Given the description of an element on the screen output the (x, y) to click on. 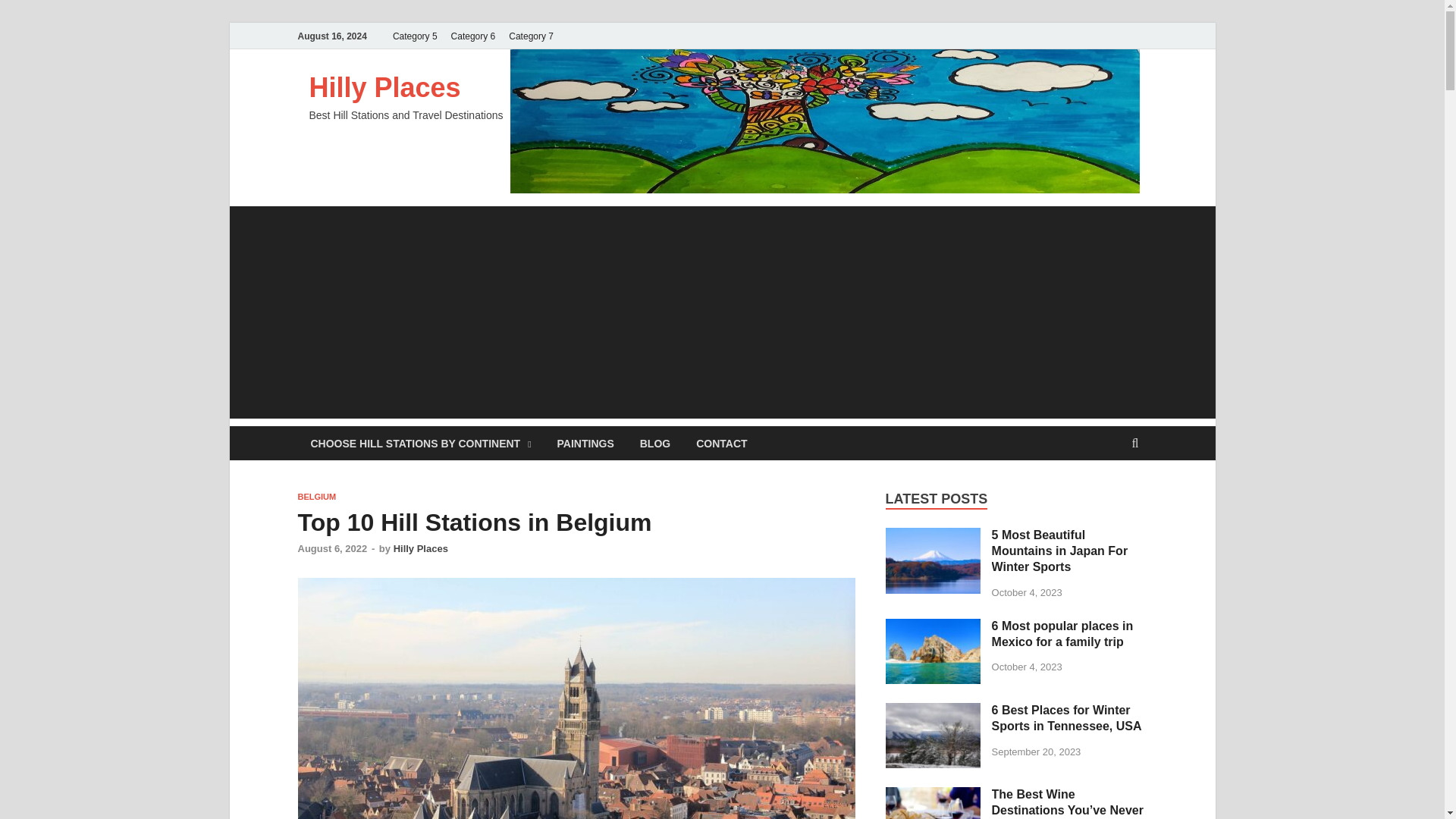
BELGIUM (316, 496)
6 Best Places for Winter Sports in Tennessee, USA (932, 711)
BLOG (654, 442)
6 Most popular places in Mexico for a family trip (932, 626)
PAINTINGS (585, 442)
CHOOSE HILL STATIONS BY CONTINENT (420, 442)
Category 7 (531, 35)
CONTACT (721, 442)
August 6, 2022 (331, 548)
